Given the description of an element on the screen output the (x, y) to click on. 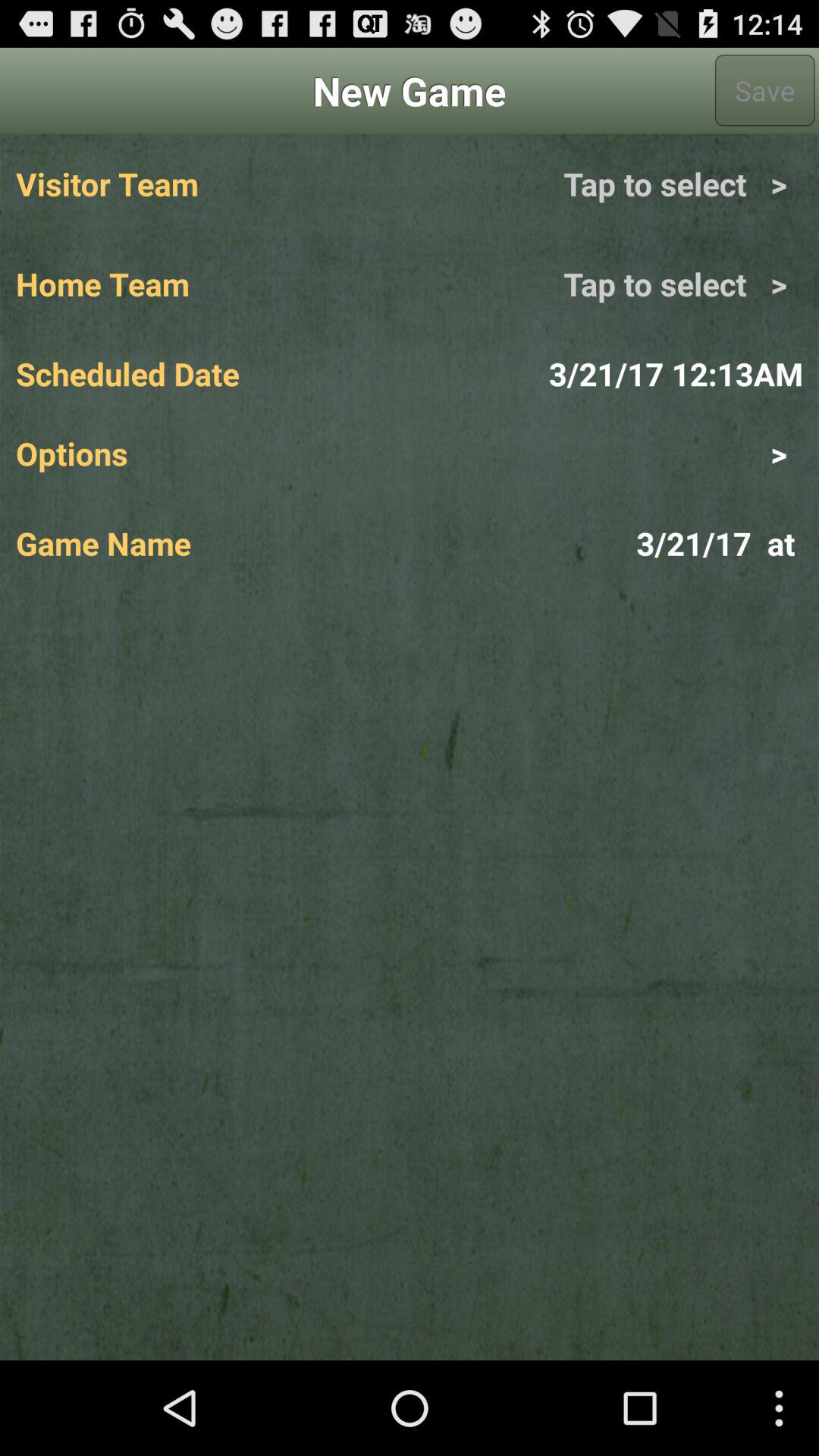
launch the app to the right of the options item (606, 452)
